Given the description of an element on the screen output the (x, y) to click on. 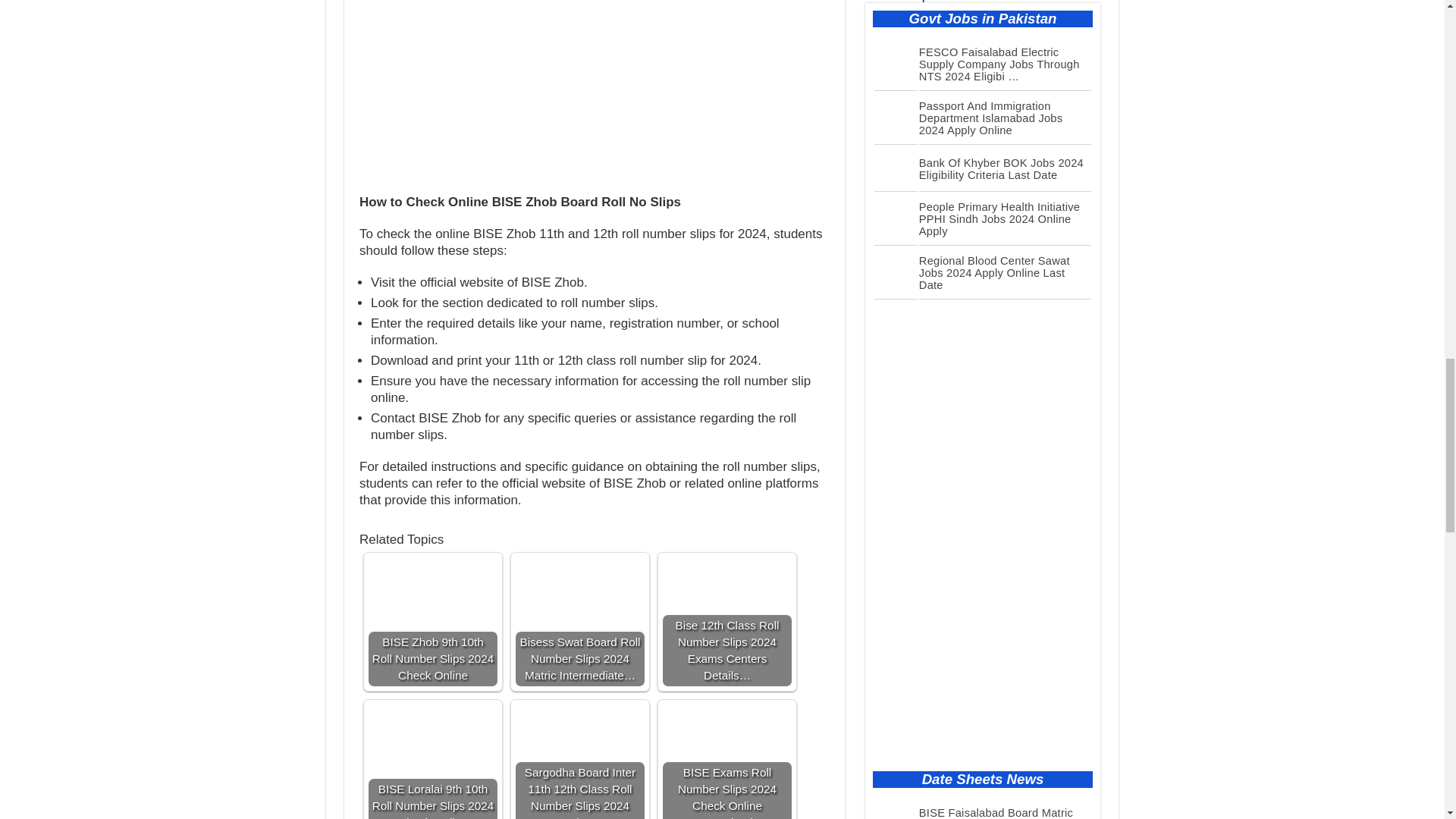
BISE Exams Roll Number Slips 2024 Check Online Download (727, 761)
BISE Zhob 9th 10th Roll Number Slips 2024 Check Online (432, 621)
BISE Loralai 9th 10th Roll Number Slips 2024 Check Online (432, 732)
BISE Exams Roll Number Slips 2024 Check Online Download (726, 732)
BISE Zhob 9th 10th Roll Number Slips 2024 Check Online (432, 585)
BISE Loralai 9th 10th Roll Number Slips 2024 Check Online (432, 761)
